Given the description of an element on the screen output the (x, y) to click on. 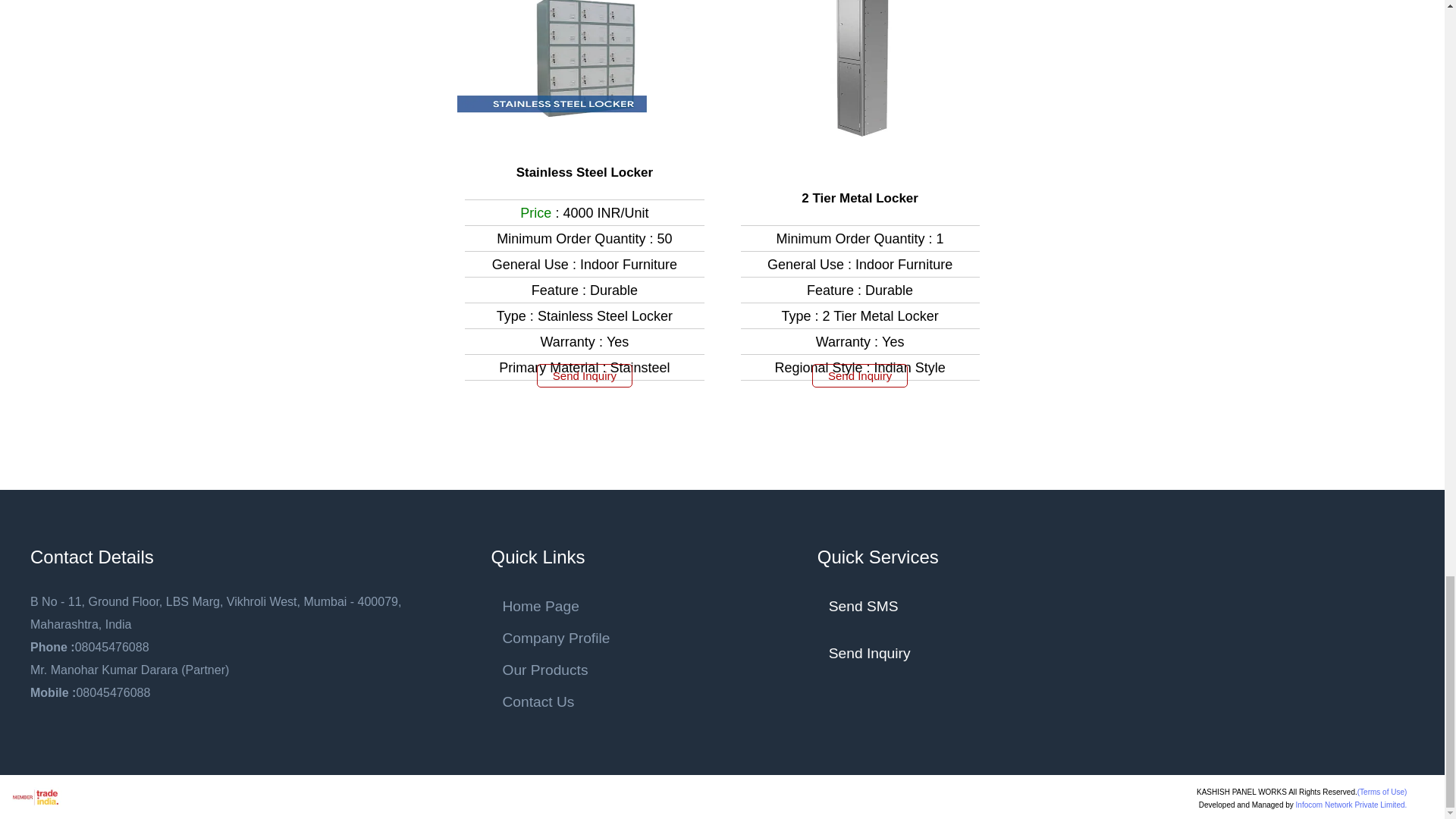
Stainless Steel Locker (584, 172)
